Given the description of an element on the screen output the (x, y) to click on. 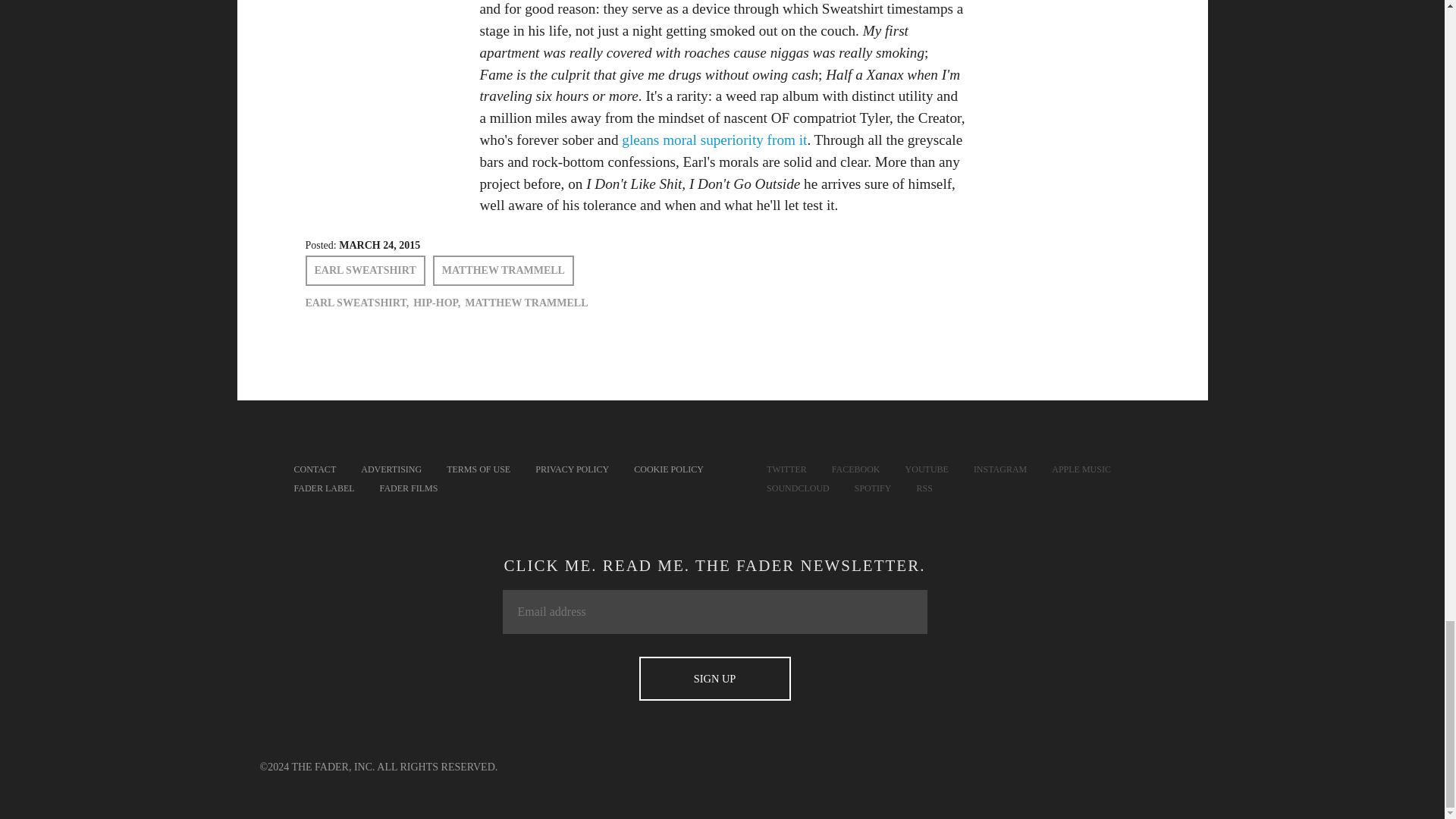
Sign Up (714, 678)
